Given the description of an element on the screen output the (x, y) to click on. 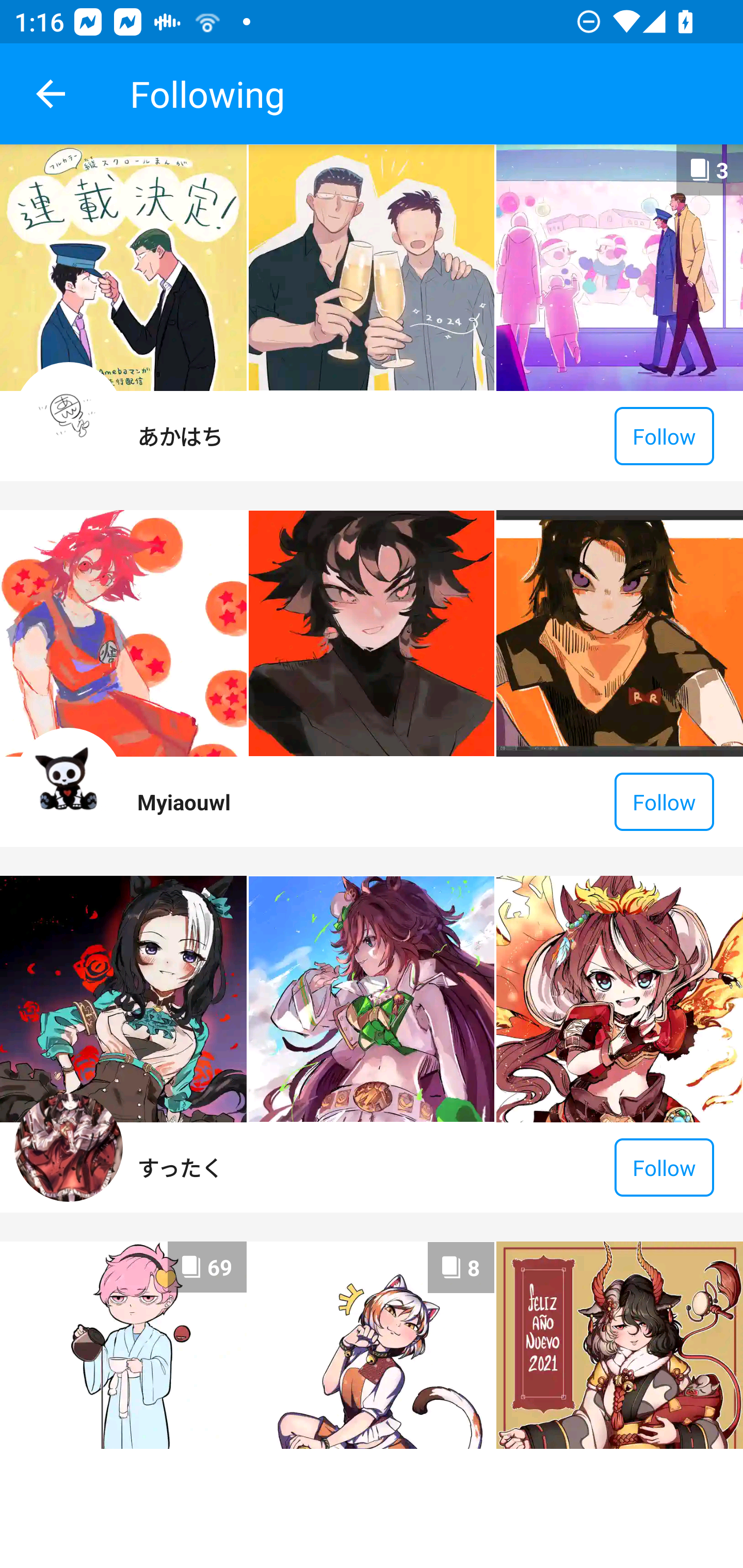
Navigate up (50, 93)
3 (619, 267)
あかはち (179, 435)
Follow (664, 436)
Myiaouwl (183, 802)
Follow (664, 802)
すったく (179, 1166)
Follow (664, 1167)
69 (123, 1344)
8 (371, 1344)
